Given the description of an element on the screen output the (x, y) to click on. 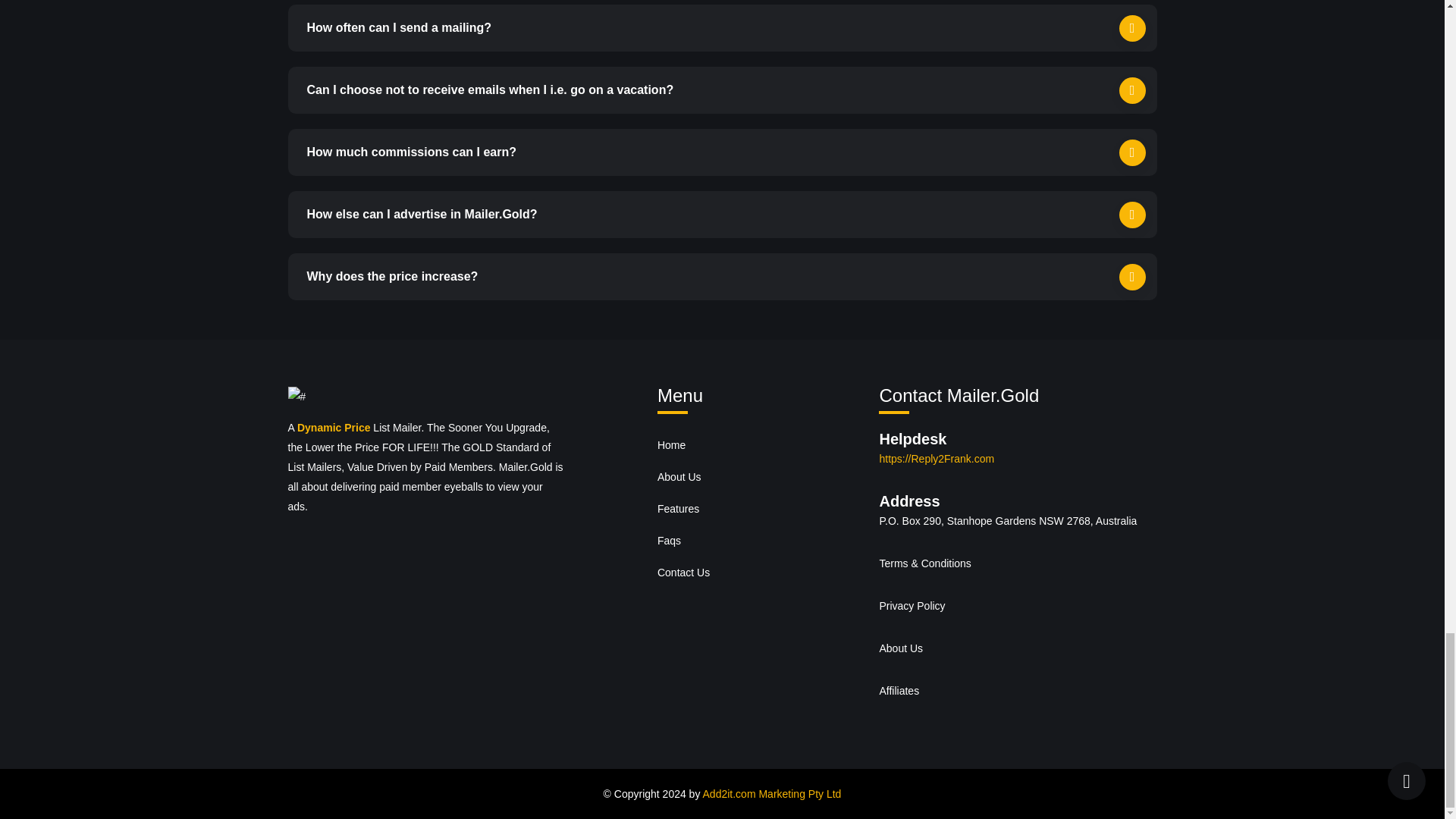
About Us (759, 477)
Why does the price increase? (722, 276)
Contact Us (759, 572)
Affiliates (898, 690)
Faqs (759, 540)
How much commissions can I earn? (722, 152)
Home (759, 445)
Privacy Policy (911, 605)
How else can I advertise in Mailer.Gold? (722, 214)
Add2it.com Marketing Pty Ltd (772, 793)
About Us (901, 648)
How often can I send a mailing? (722, 27)
Features (759, 508)
